Given the description of an element on the screen output the (x, y) to click on. 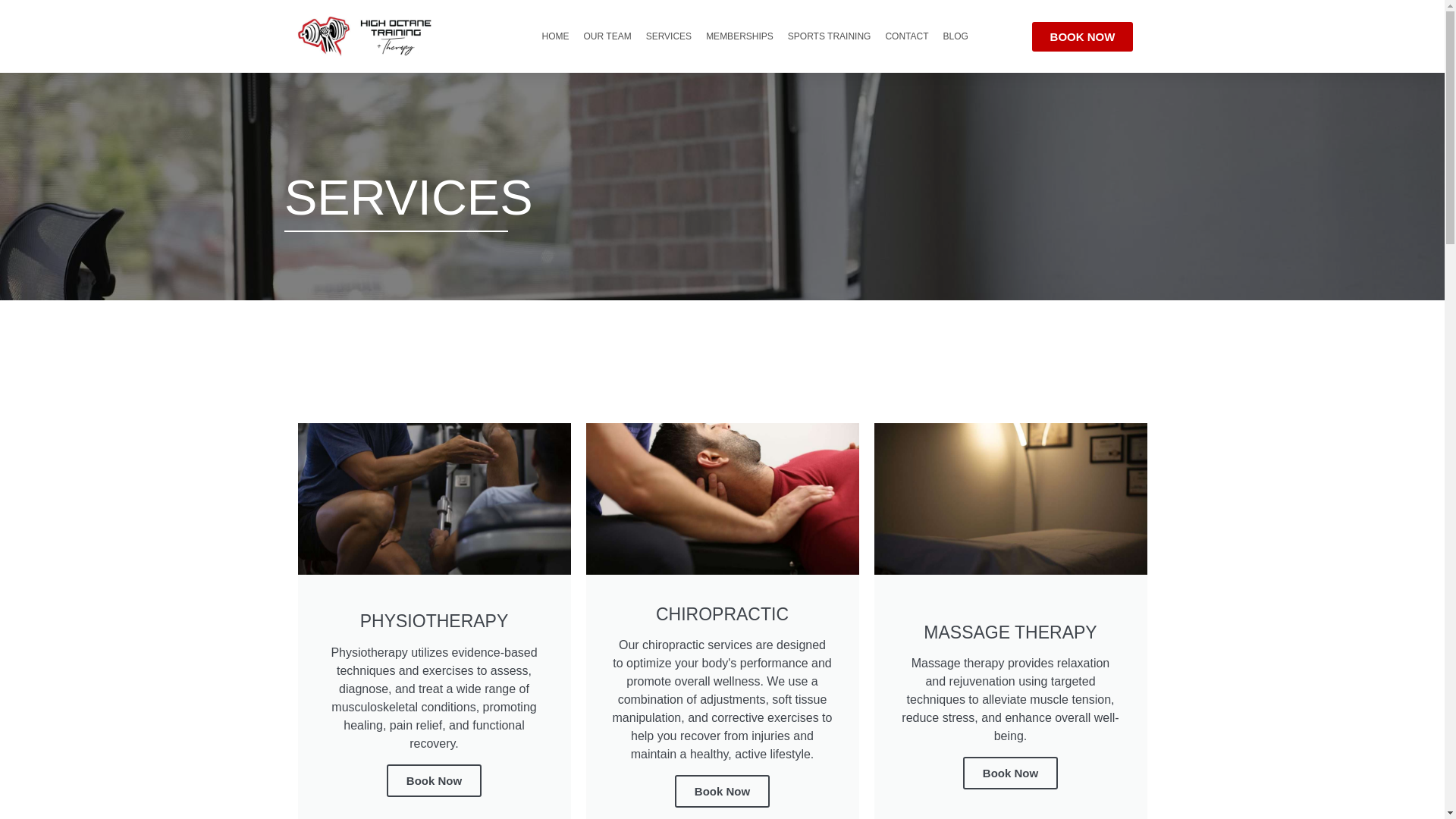
SPORTS TRAINING (829, 36)
MEMBERSHIPS (739, 36)
Book Now (722, 790)
BOOK NOW (1083, 35)
Book Now (1010, 772)
Book Now (434, 780)
